Given the description of an element on the screen output the (x, y) to click on. 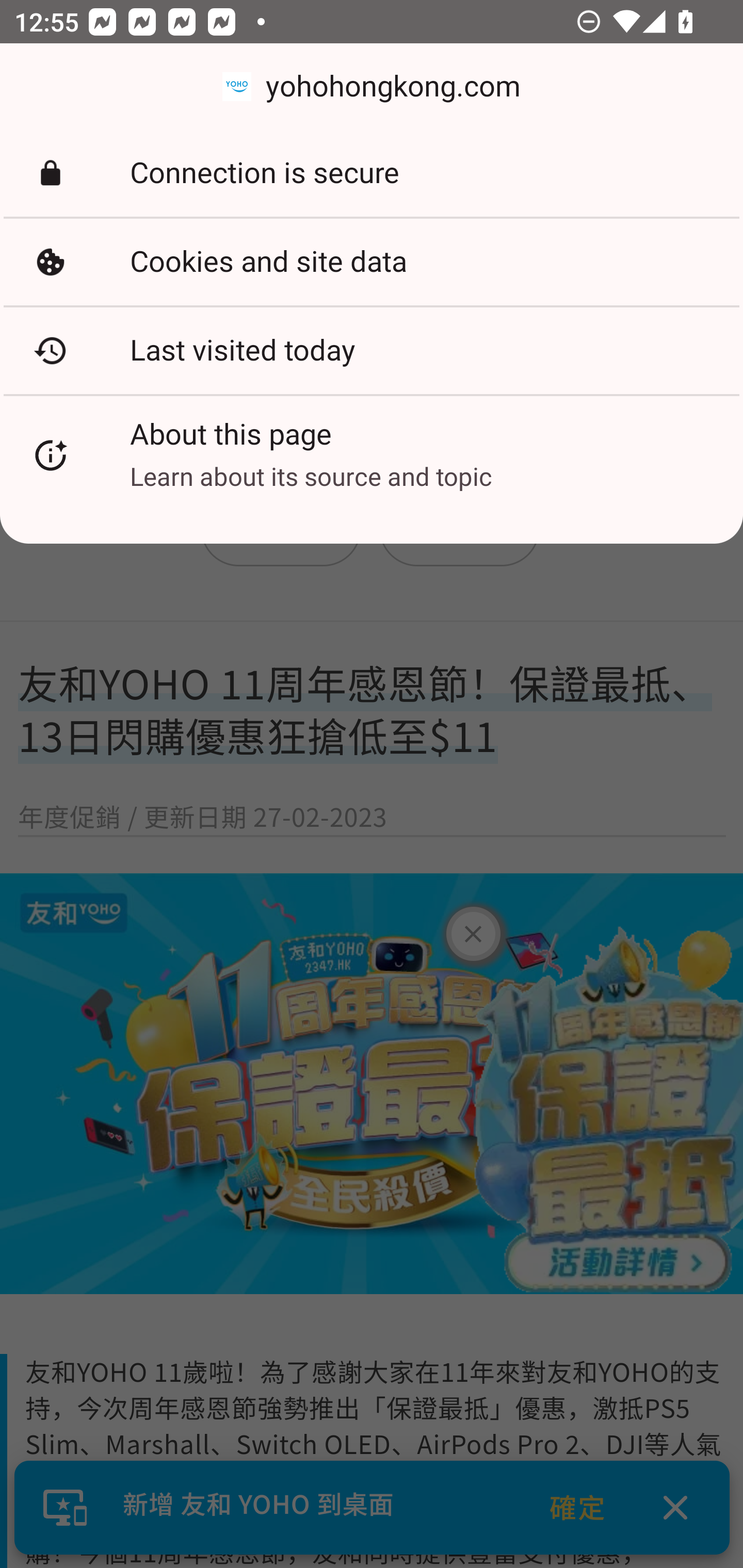
yohohongkong.com (371, 86)
Connection is secure (371, 173)
Cookies and site data (371, 261)
Last visited today (371, 350)
About this page Learn about its source and topic (371, 455)
